Given the description of an element on the screen output the (x, y) to click on. 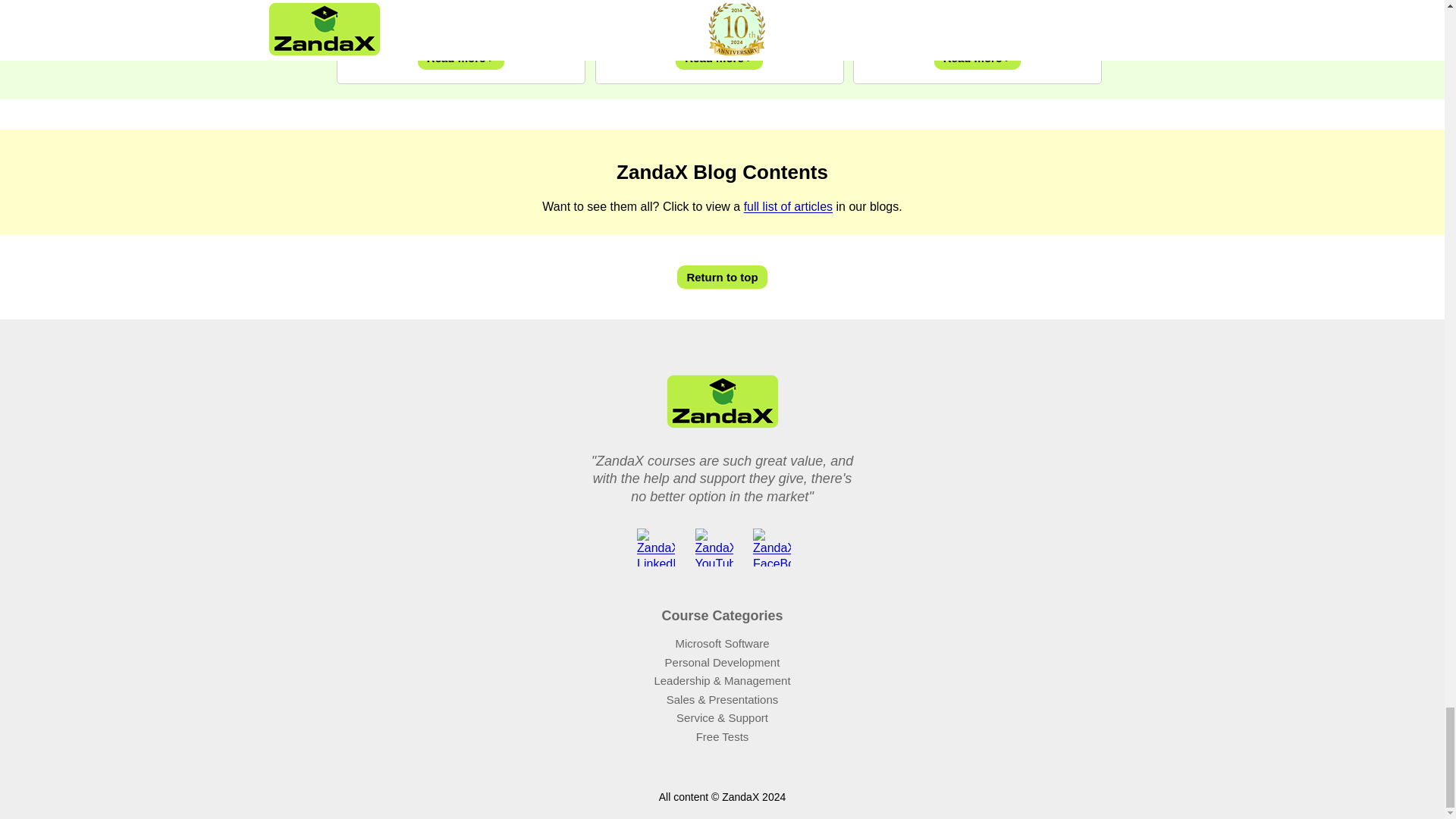
Return to top (722, 277)
Return to top (722, 277)
full list of articles (788, 205)
